Given the description of an element on the screen output the (x, y) to click on. 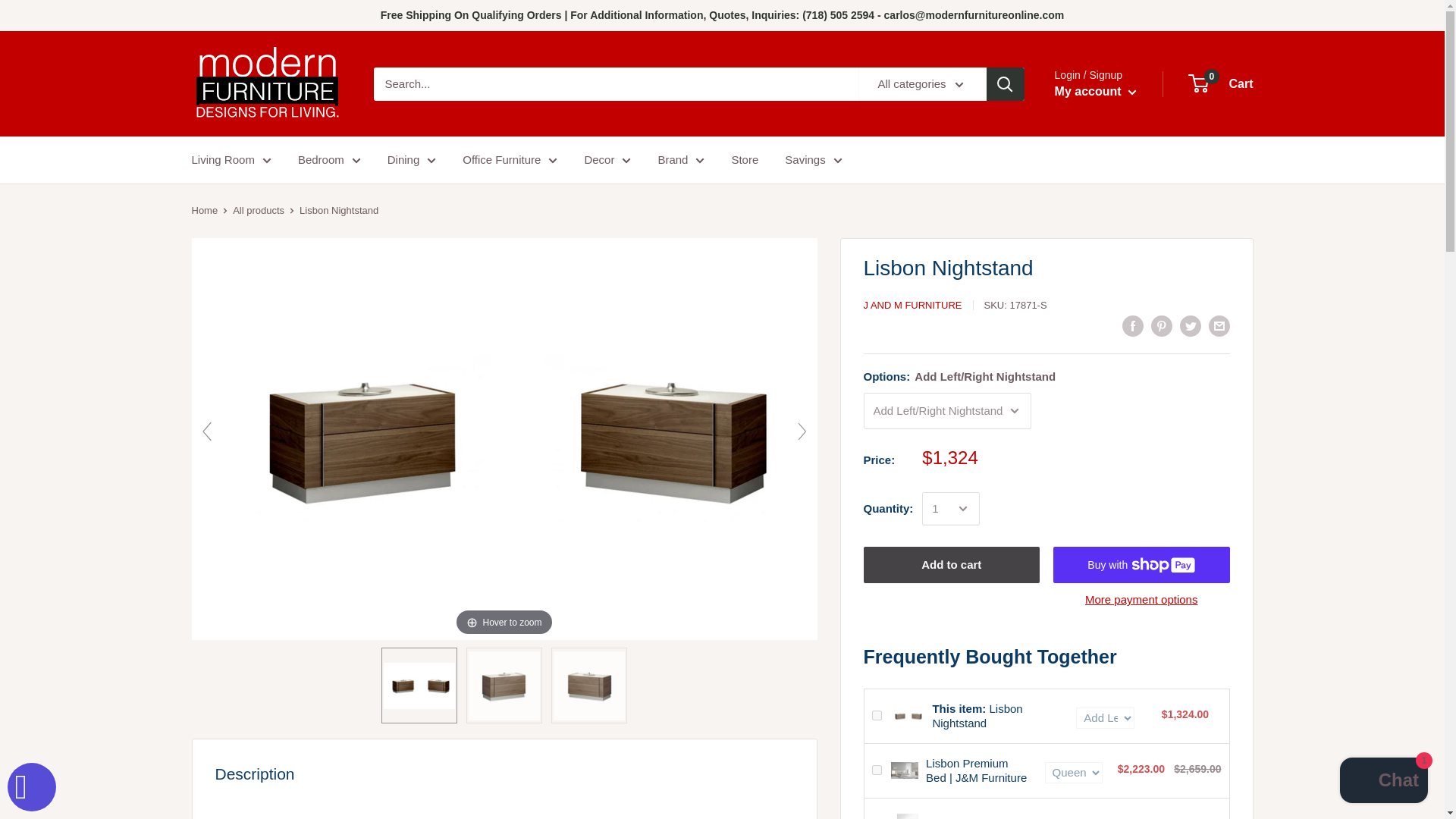
Lisbon Nightstand (589, 685)
Lisbon Nightstand (419, 685)
Shopify online store chat (1383, 781)
Lisbon Nightstand (503, 685)
